Given the description of an element on the screen output the (x, y) to click on. 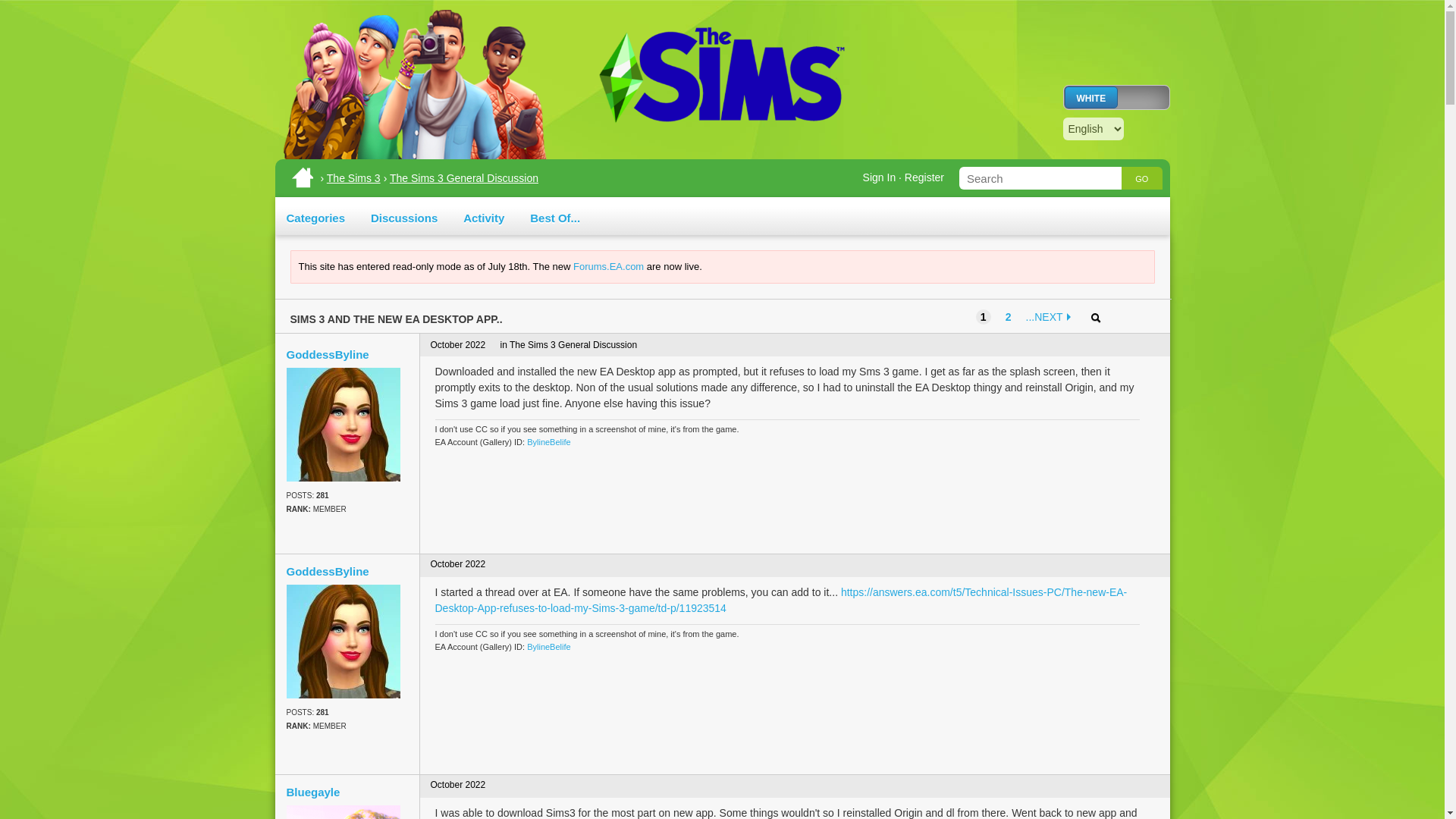
October 2022 (458, 563)
Register (923, 177)
...NEXT (1050, 316)
Next Page (1050, 316)
BylineBelife (548, 441)
Go (1141, 178)
2 (1008, 316)
Member (346, 726)
October 2022 (458, 784)
Categories (316, 217)
